Given the description of an element on the screen output the (x, y) to click on. 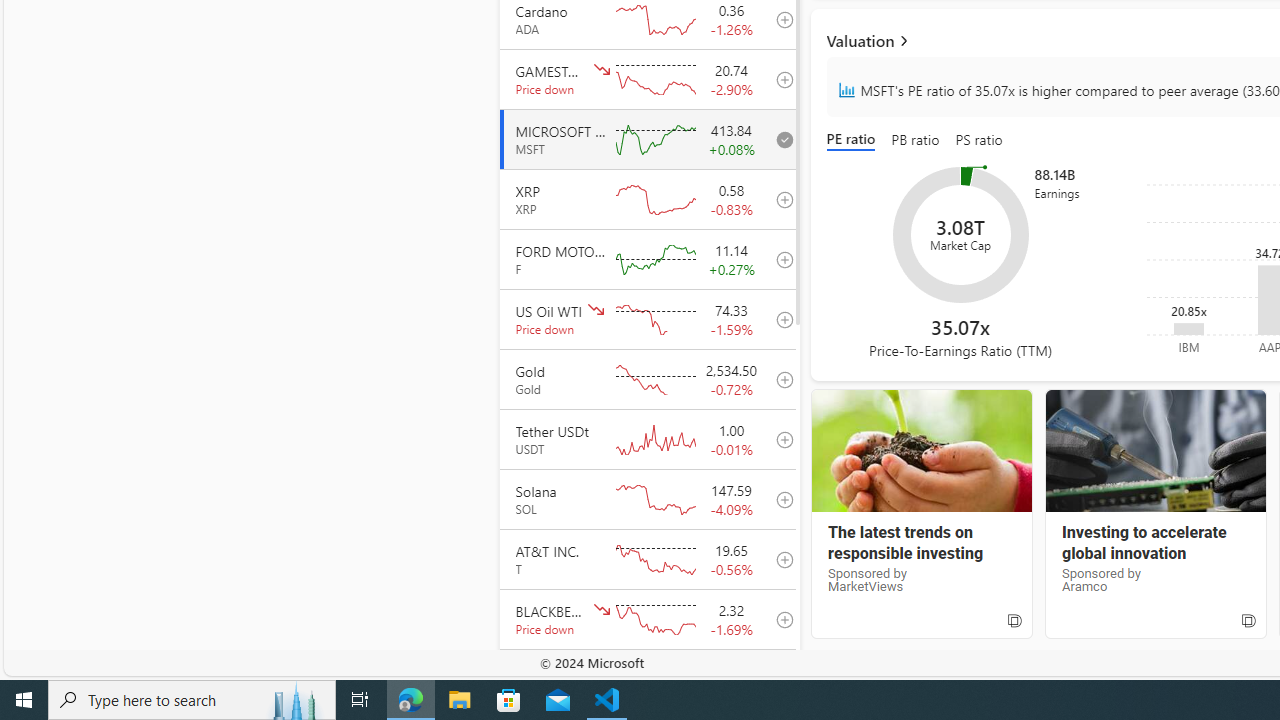
Aramco (1154, 451)
PB ratio (915, 140)
MarketViews (921, 451)
add to your watchlist (779, 678)
